Given the description of an element on the screen output the (x, y) to click on. 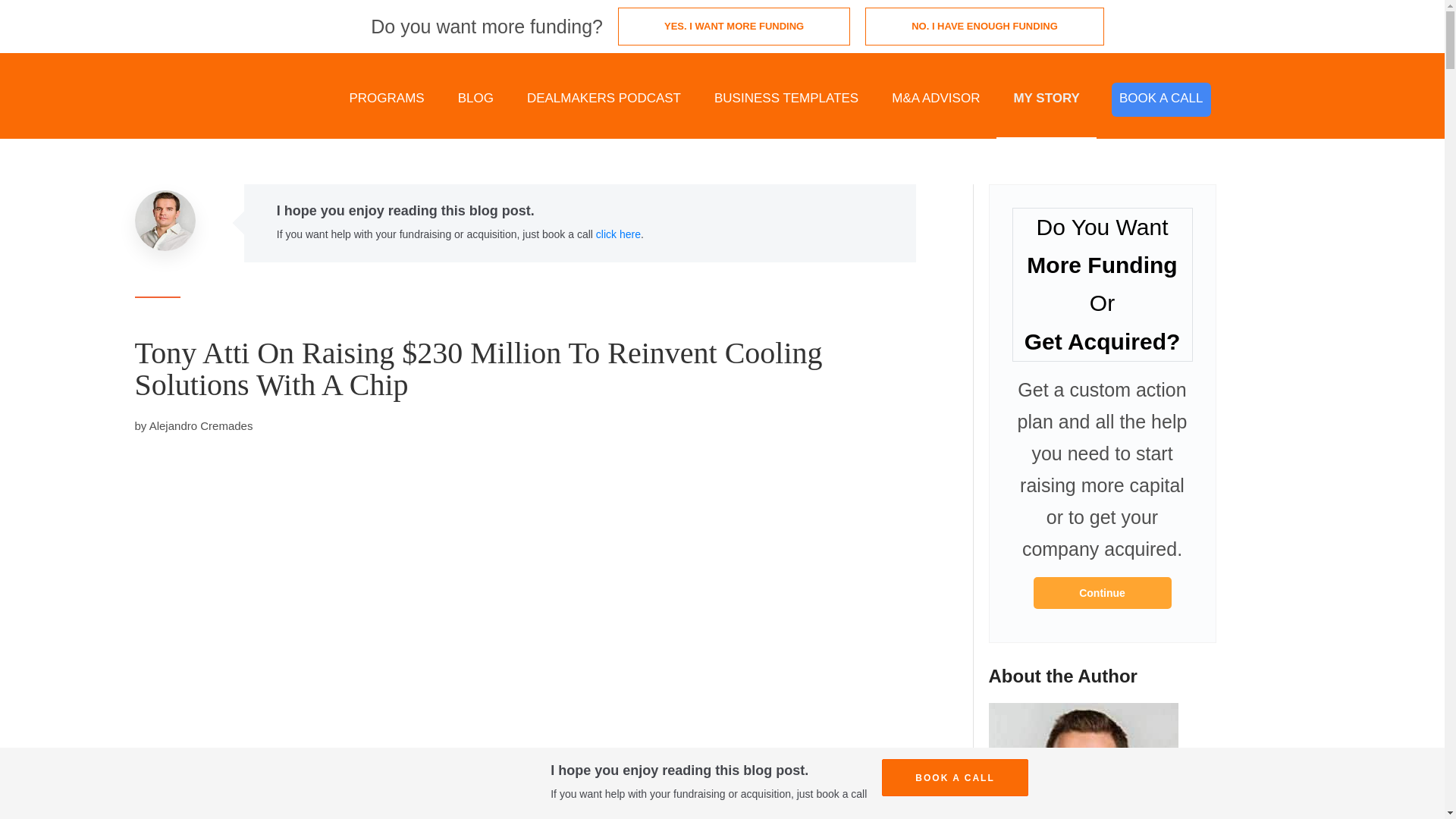
YES. I WANT MORE FUNDING (733, 26)
Alejandro Cremades (201, 425)
click here (617, 234)
PROGRAMS (386, 99)
BOOK A CALL (1161, 99)
BUSINESS TEMPLATES (786, 99)
NO. I HAVE ENOUGH FUNDING (983, 26)
Posts by Alejandro Cremades (201, 425)
MY STORY (1045, 99)
DEALMAKERS PODCAST (604, 99)
